Given the description of an element on the screen output the (x, y) to click on. 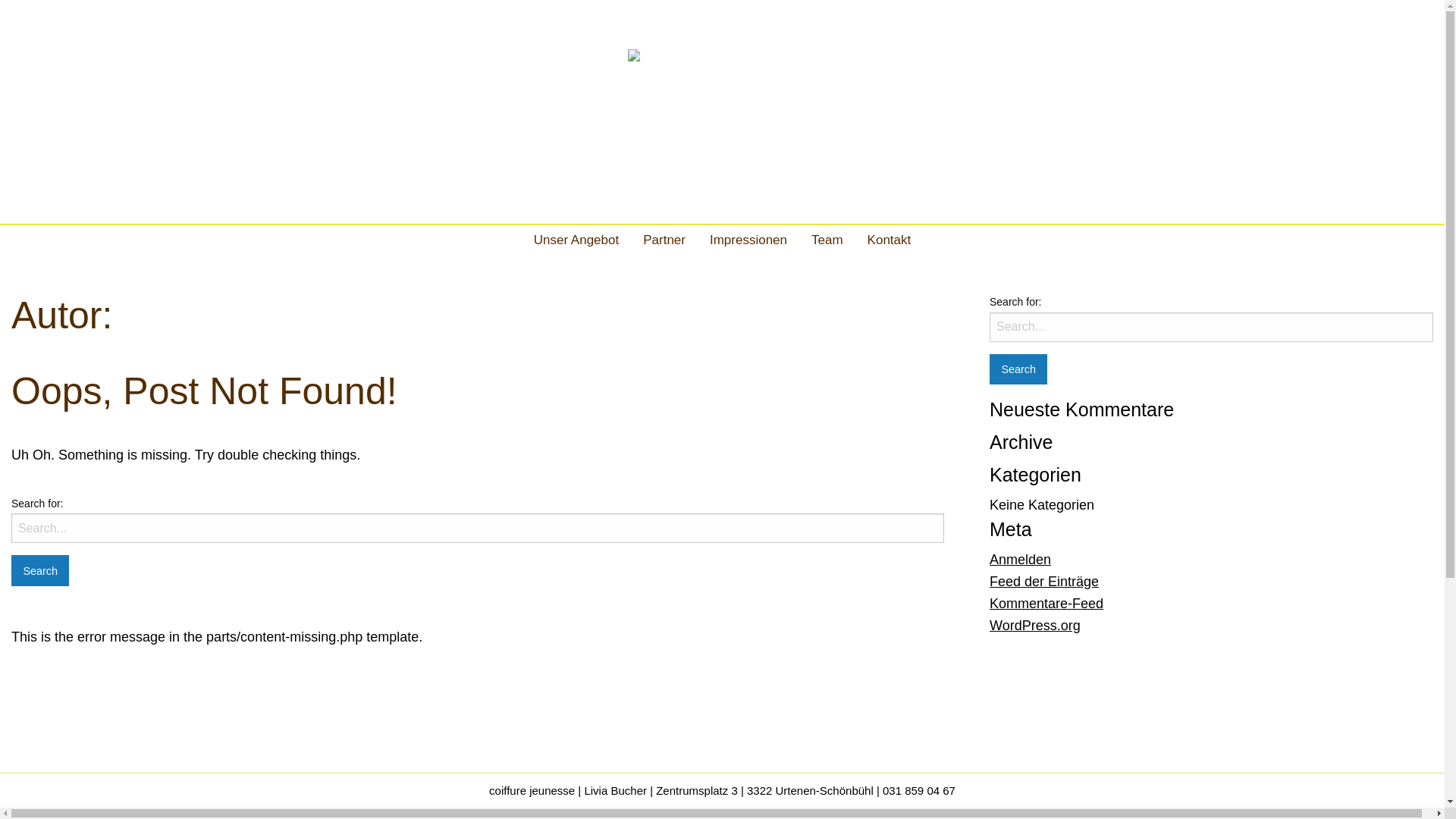
Kontakt Element type: text (889, 238)
Search for: Element type: hover (477, 527)
Search Element type: text (1018, 369)
Kommentare-Feed Element type: text (1046, 603)
Anmelden Element type: text (1020, 559)
Partner Element type: text (663, 238)
Team Element type: text (827, 238)
Search for: Element type: hover (1211, 327)
Search Element type: text (40, 570)
Impressionen Element type: text (748, 238)
Unser Angebot Element type: text (575, 238)
WordPress.org Element type: text (1034, 625)
